Given the description of an element on the screen output the (x, y) to click on. 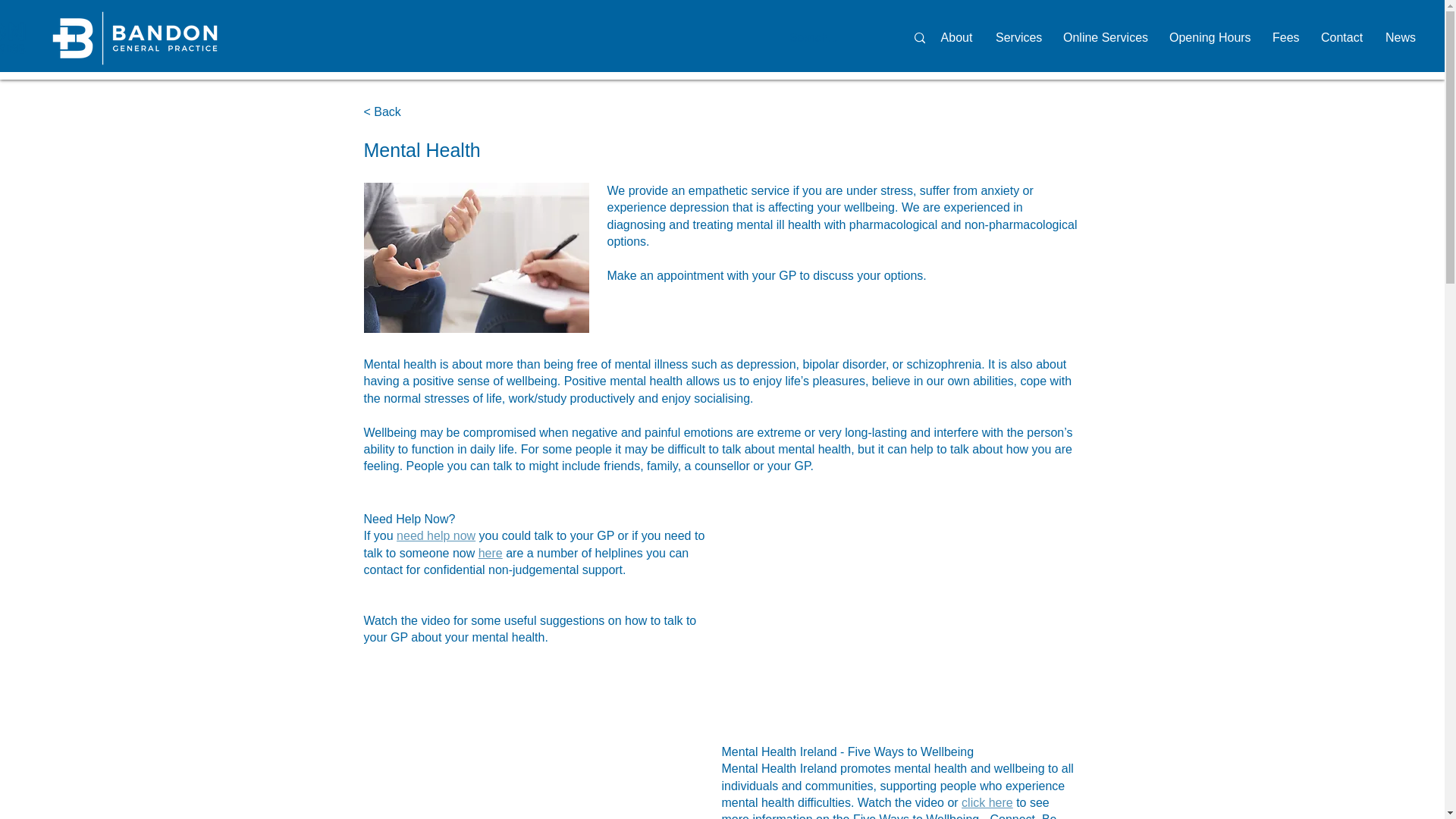
Online Services (1104, 37)
need help now (436, 535)
Mental Health Ireland - Five Ways to Wellbeing (848, 751)
News (1400, 37)
About (956, 37)
Opening Hours (1208, 37)
bandon-gp-logo-master.png (134, 38)
Fees (1284, 37)
click here (986, 802)
here (490, 553)
Services (1017, 37)
Contact (1341, 37)
